Given the description of an element on the screen output the (x, y) to click on. 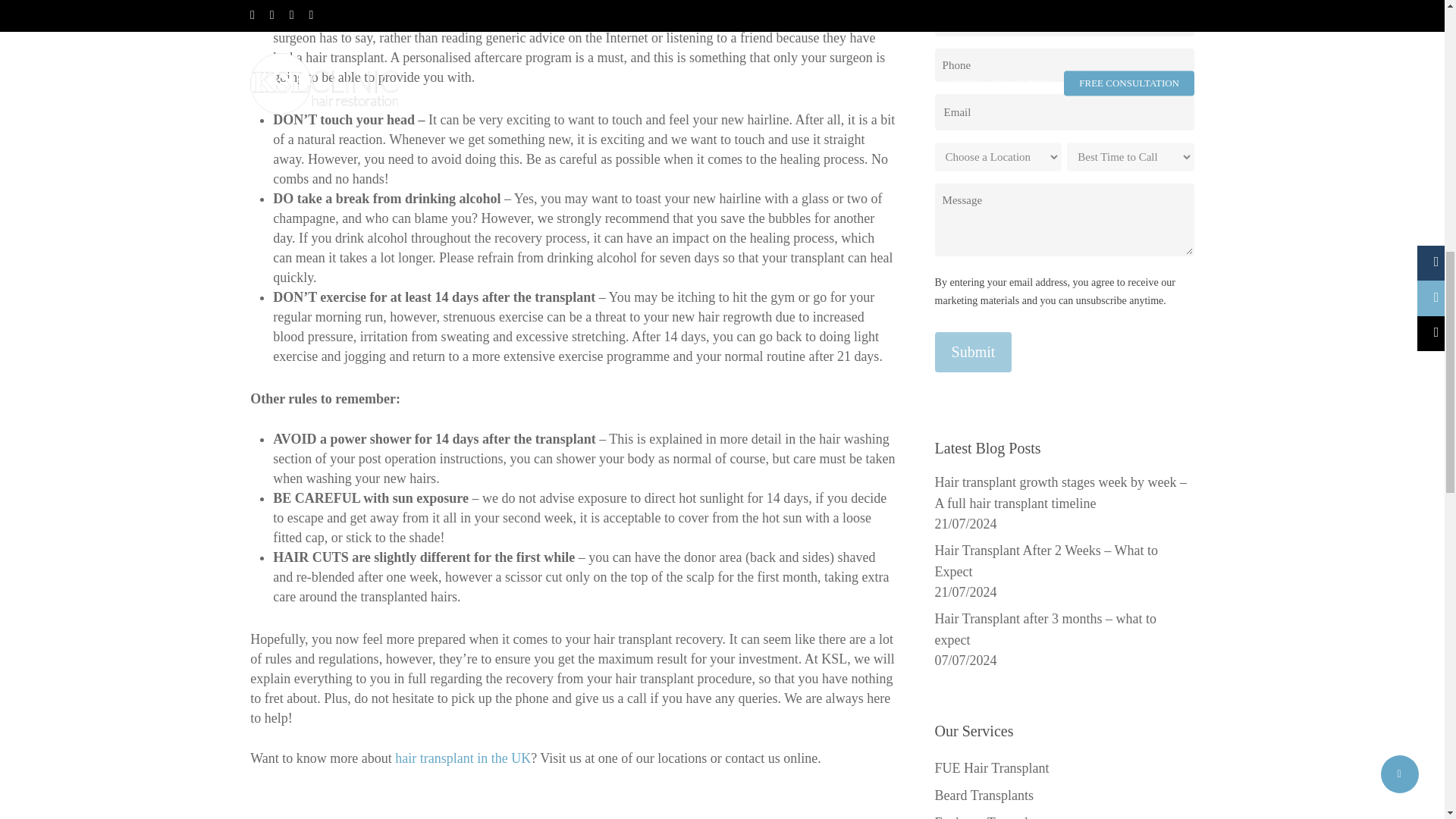
Submit (972, 352)
